Given the description of an element on the screen output the (x, y) to click on. 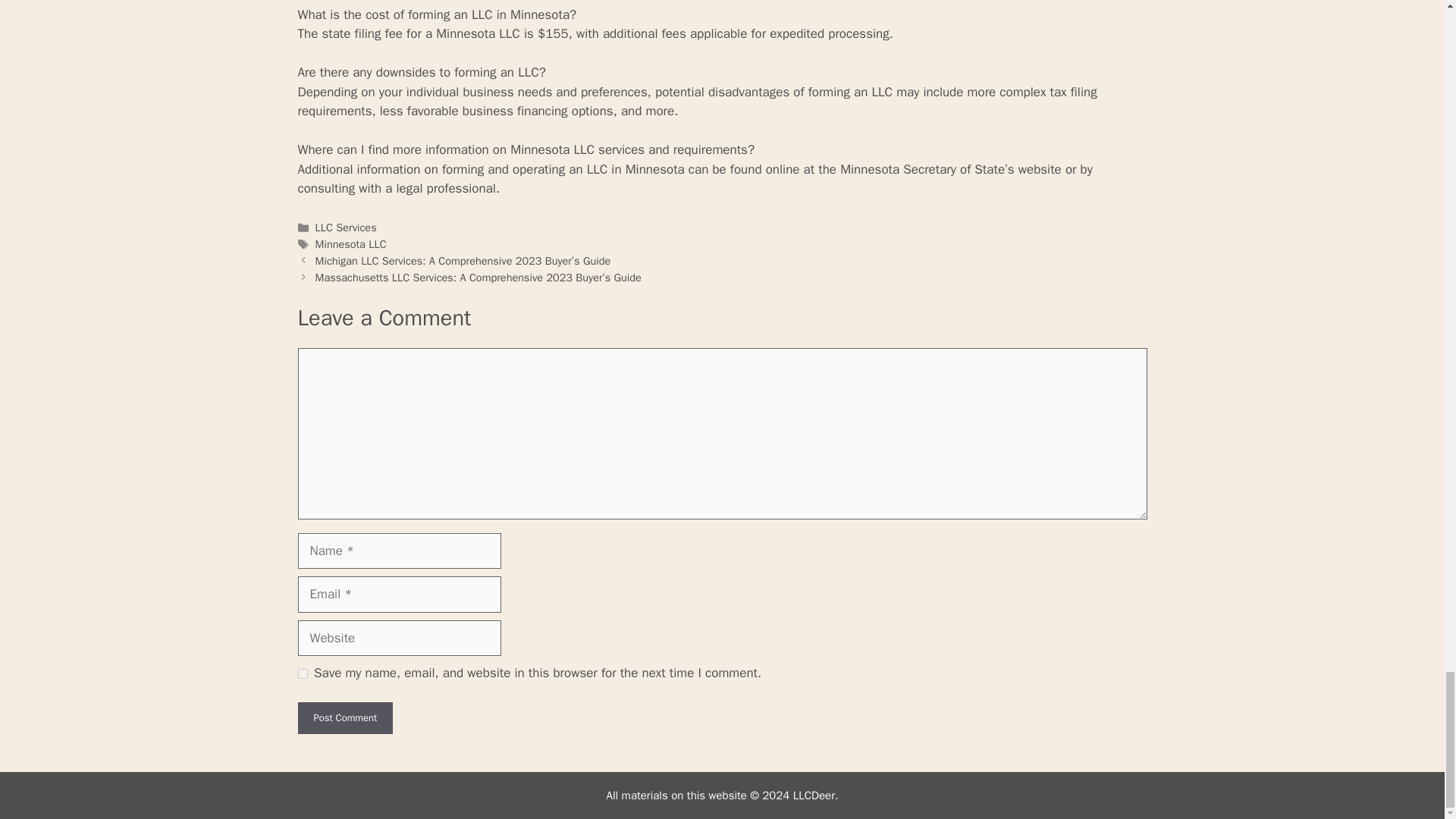
yes (302, 673)
Minnesota LLC (351, 243)
Post Comment (345, 717)
LLC Services (346, 227)
